Given the description of an element on the screen output the (x, y) to click on. 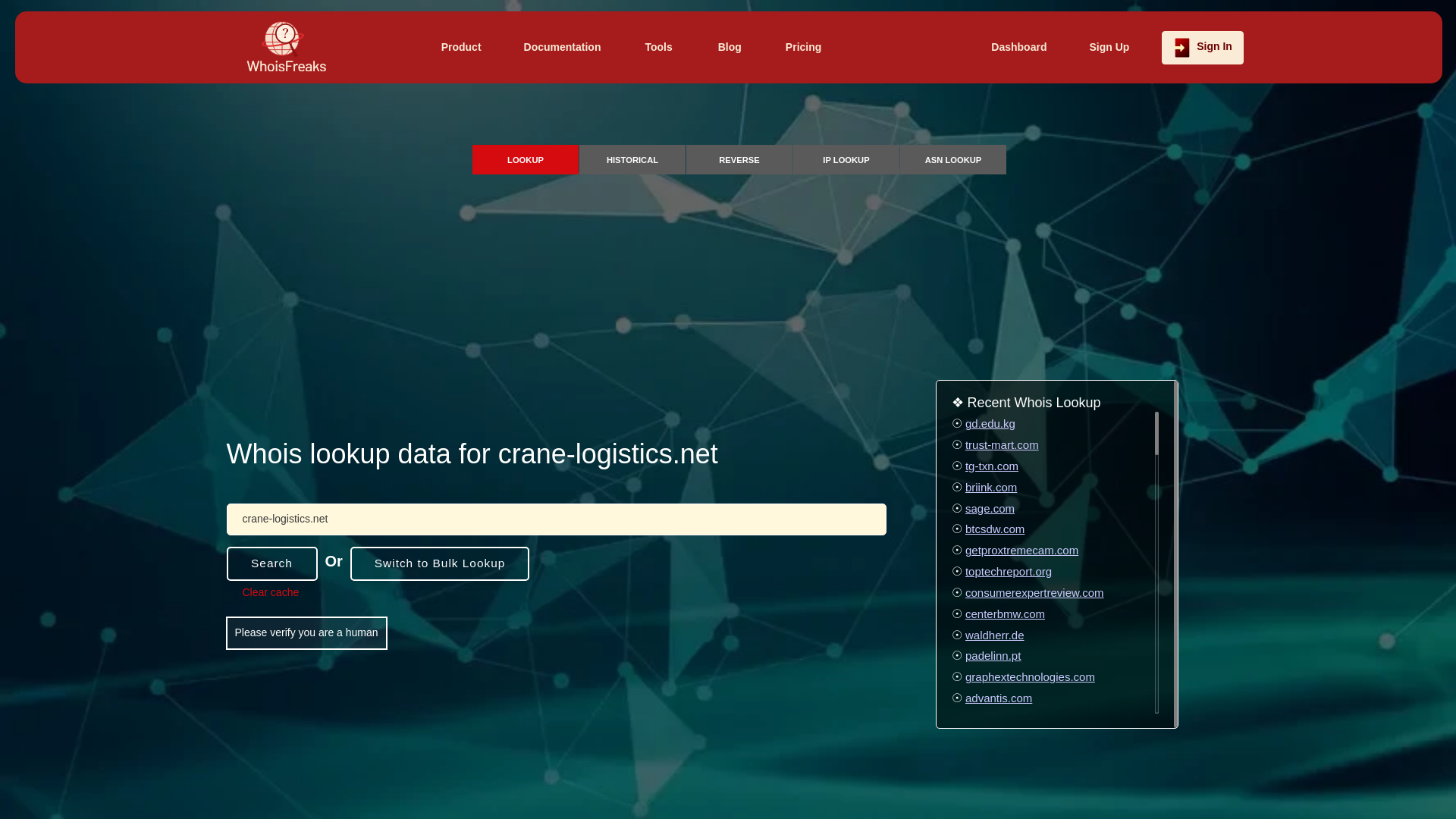
Please enter a valid domain name (555, 519)
Please verify you are a human (306, 633)
crane-logistics.net (555, 519)
Sign Up (1108, 47)
Search (271, 563)
LOOKUP (524, 158)
Documentation (562, 47)
Switch to Bulk Lookup (439, 563)
REVERSE (738, 158)
Product (461, 47)
IP LOOKUP (846, 158)
ASN LOOKUP (952, 158)
Pricing (803, 47)
Sign In (1202, 47)
Clear cache (271, 592)
